Given the description of an element on the screen output the (x, y) to click on. 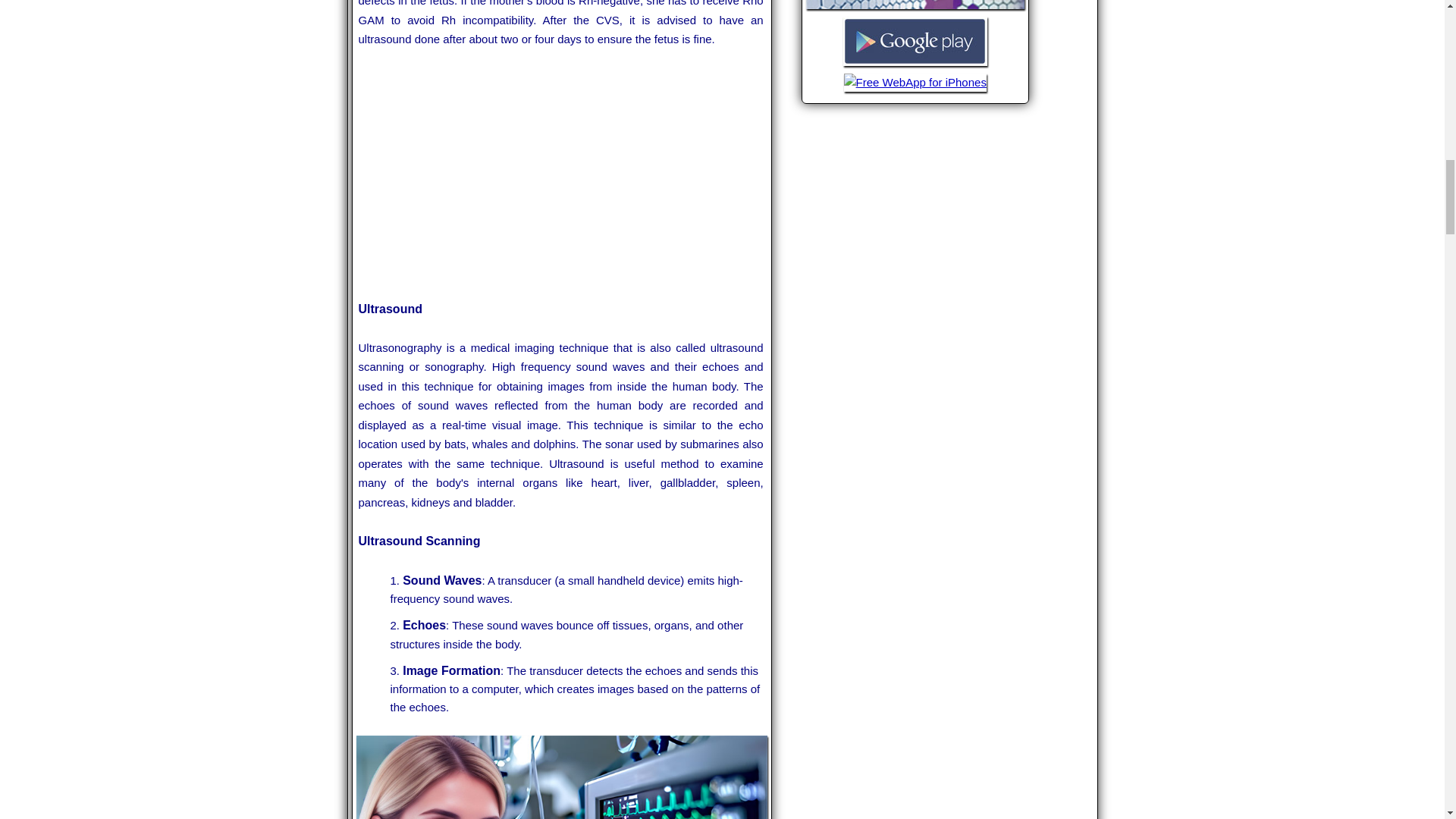
Free WebApp for Apple iPhones (915, 89)
Advertisement (561, 173)
Free Android Health App (915, 63)
Check all your health queries right from your mobile (915, 6)
